Given the description of an element on the screen output the (x, y) to click on. 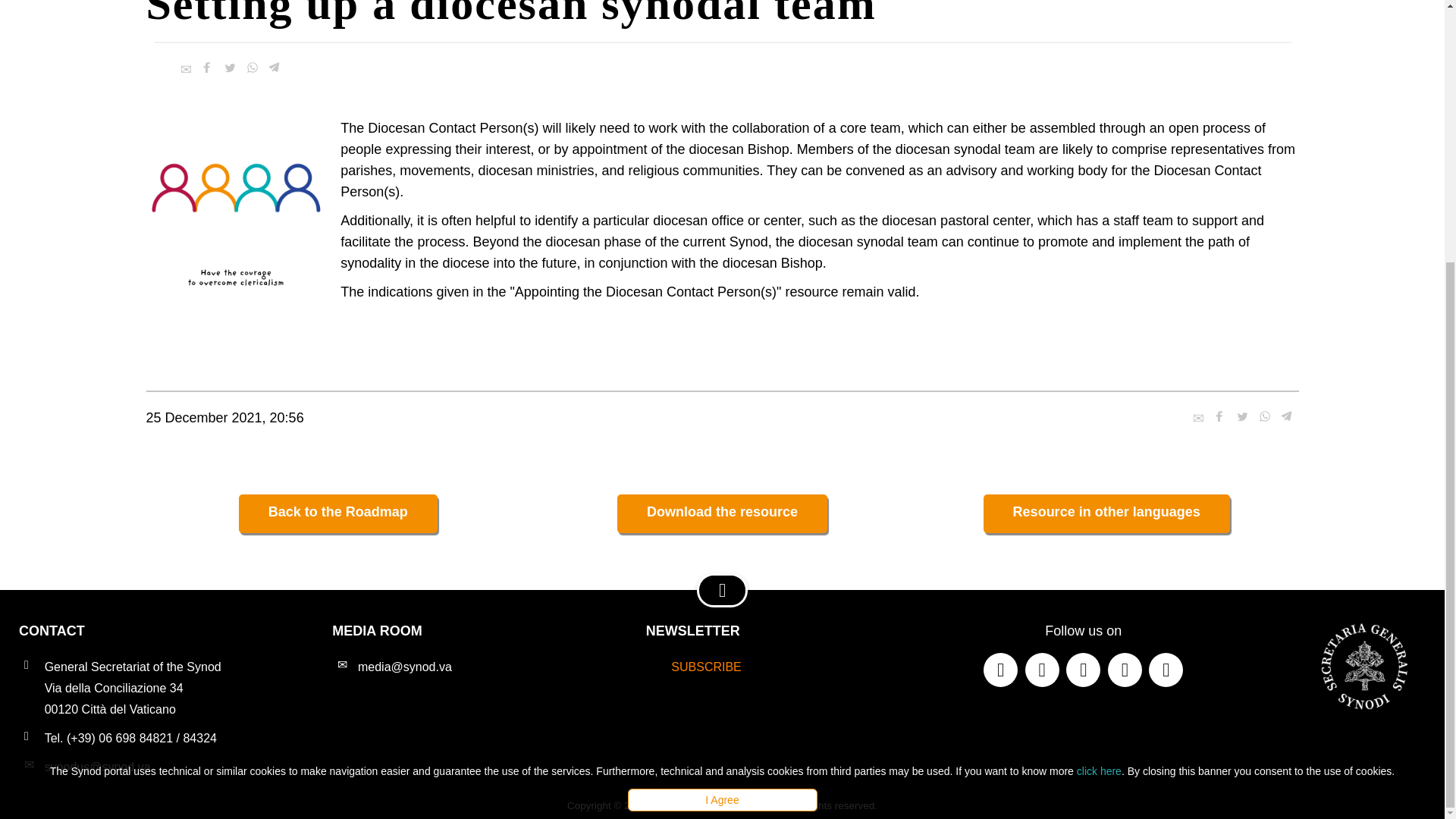
whatsapp (251, 67)
twitter (228, 67)
Send mail (185, 68)
telegram (1287, 416)
facebook (1219, 416)
twitter (1241, 416)
whatsapp (1264, 416)
facebook (206, 67)
Resource in other languages (1107, 513)
telegram (274, 67)
